Given the description of an element on the screen output the (x, y) to click on. 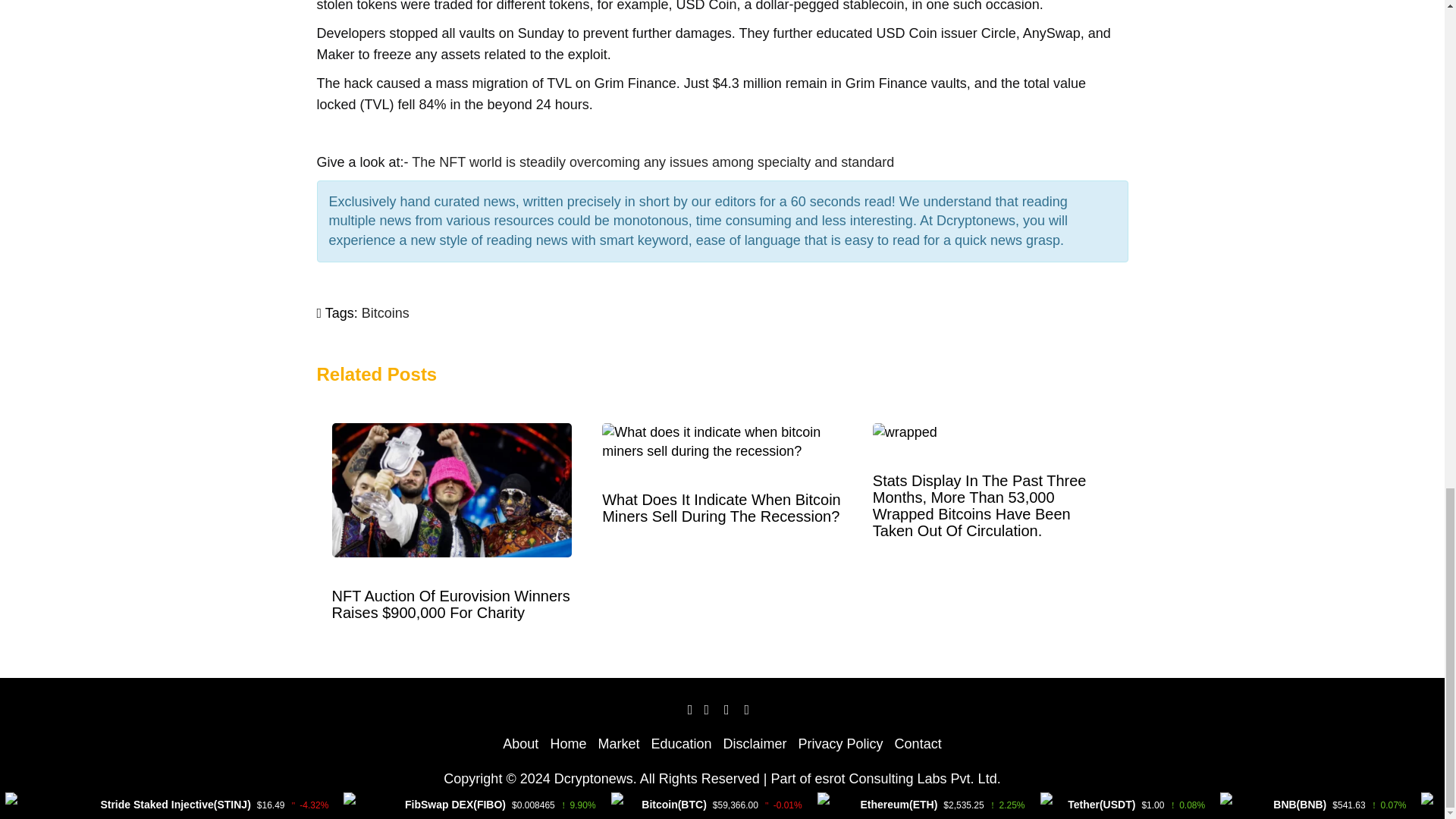
Part of esrot Consulting Labs Pvt. Ltd. (885, 778)
Bitcoins (385, 313)
Education (680, 743)
Market (617, 743)
Home (568, 743)
About (520, 743)
